Given the description of an element on the screen output the (x, y) to click on. 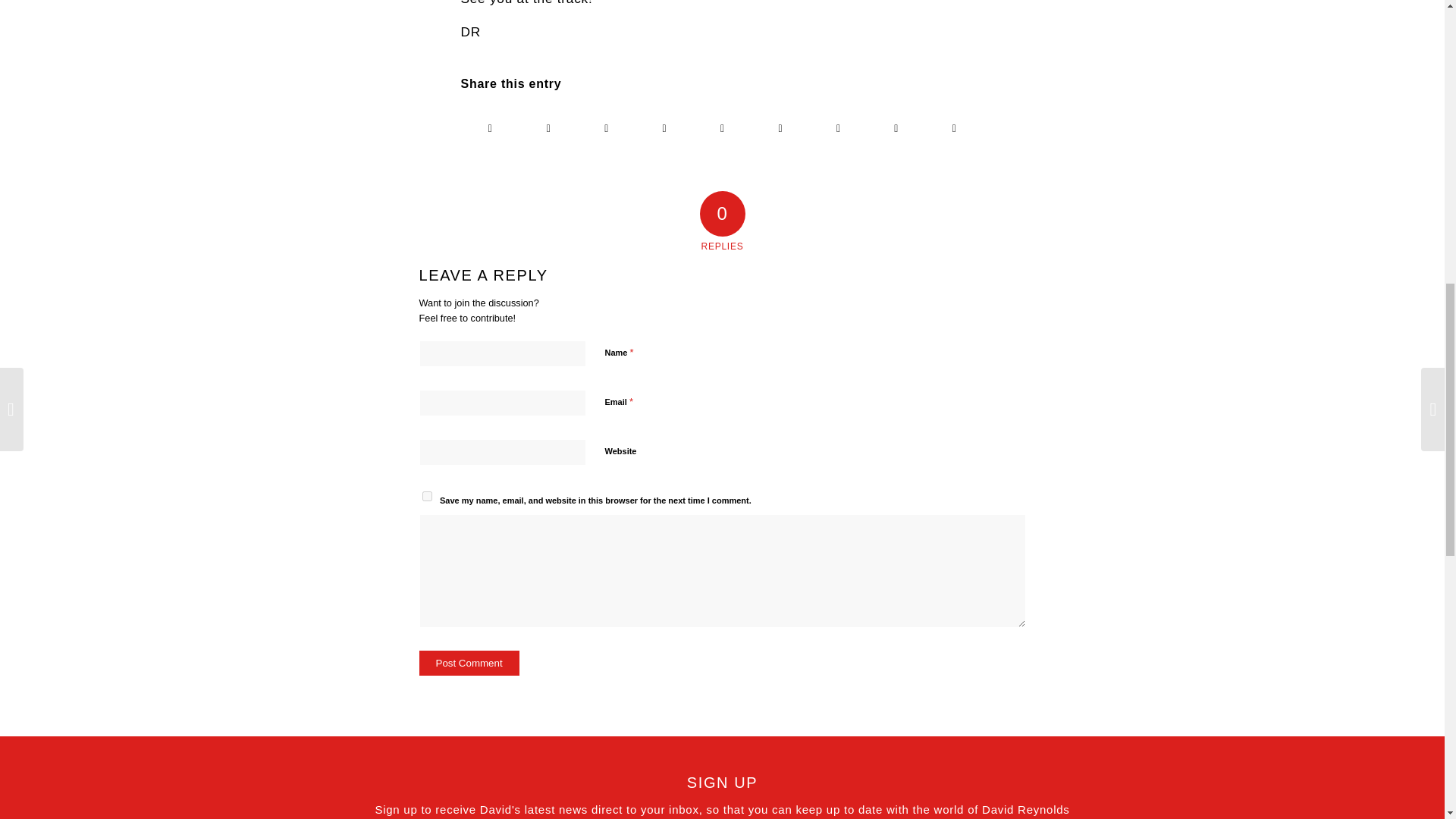
Post Comment (468, 662)
Post Comment (468, 662)
yes (426, 496)
